Given the description of an element on the screen output the (x, y) to click on. 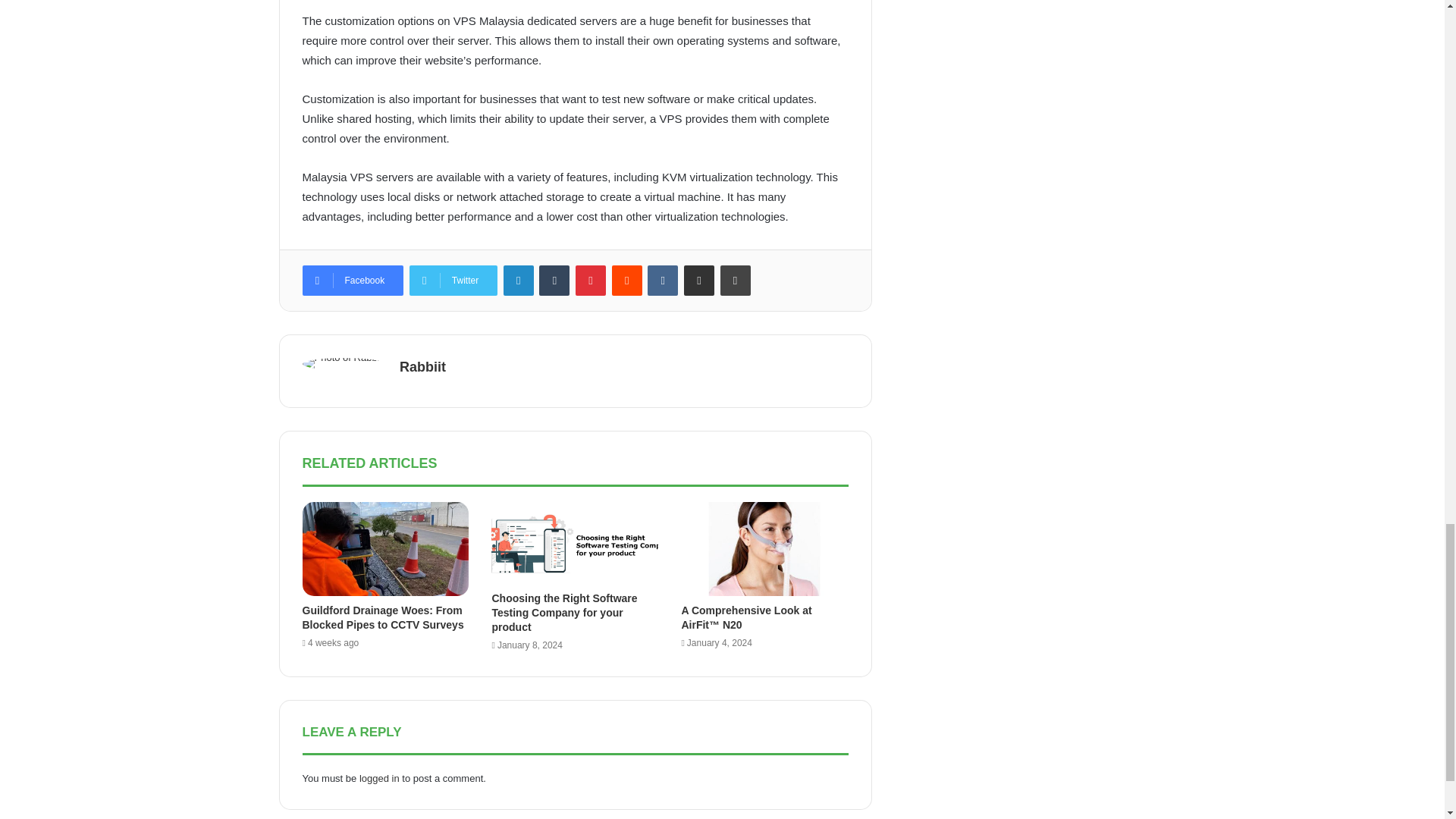
Facebook (352, 280)
Print (735, 280)
Pinterest (590, 280)
Reddit (626, 280)
VKontakte (662, 280)
VKontakte (662, 280)
Print (735, 280)
Twitter (453, 280)
Facebook (352, 280)
Twitter (453, 280)
